Given the description of an element on the screen output the (x, y) to click on. 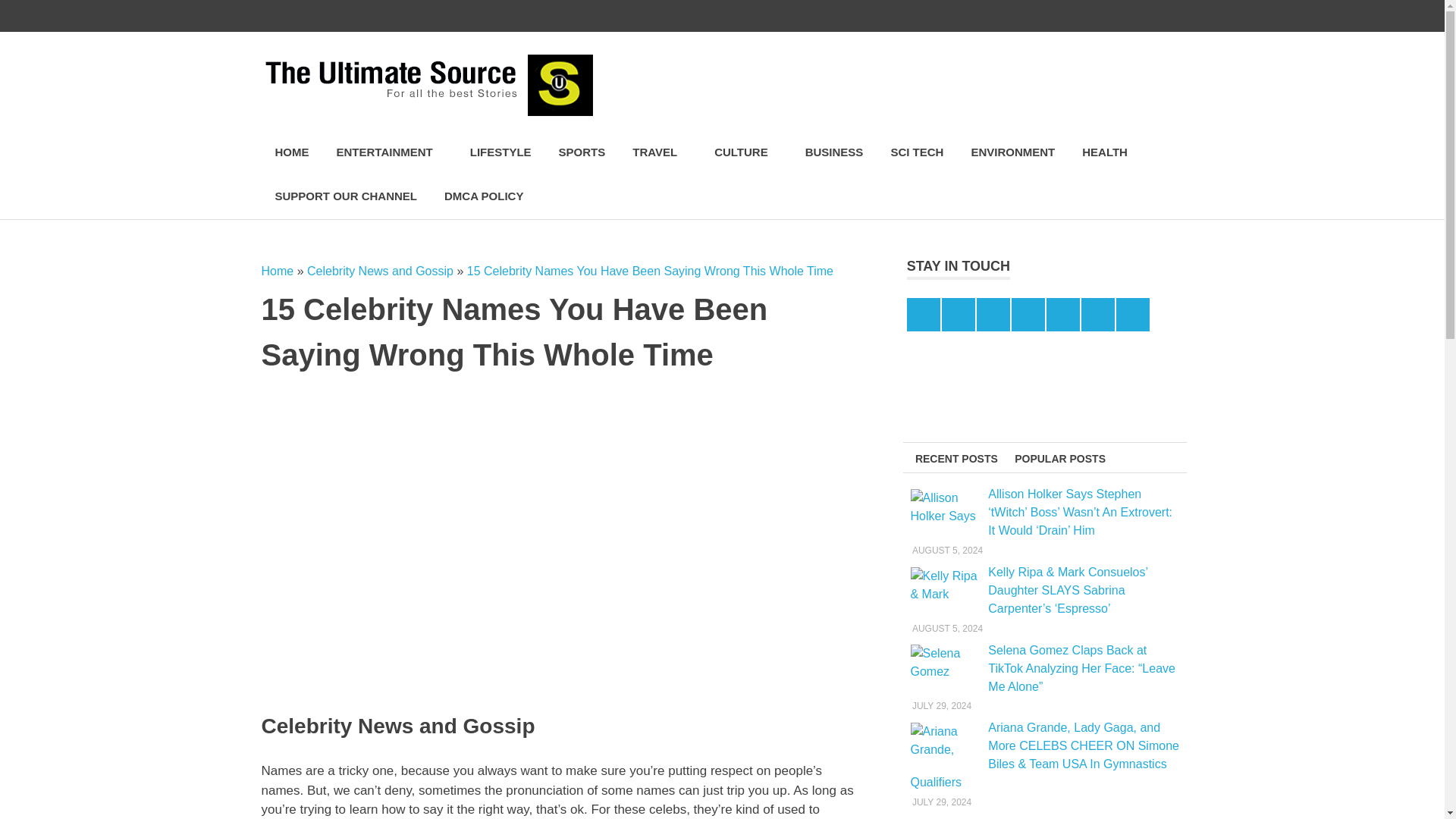
Celebrity News and Gossip (379, 270)
Pinterest (1039, 15)
LIFESTYLE (500, 152)
Telegram (1103, 15)
HOME (290, 152)
SCI TECH (916, 152)
HEALTH (1104, 152)
TRAVEL (659, 152)
